Given the description of an element on the screen output the (x, y) to click on. 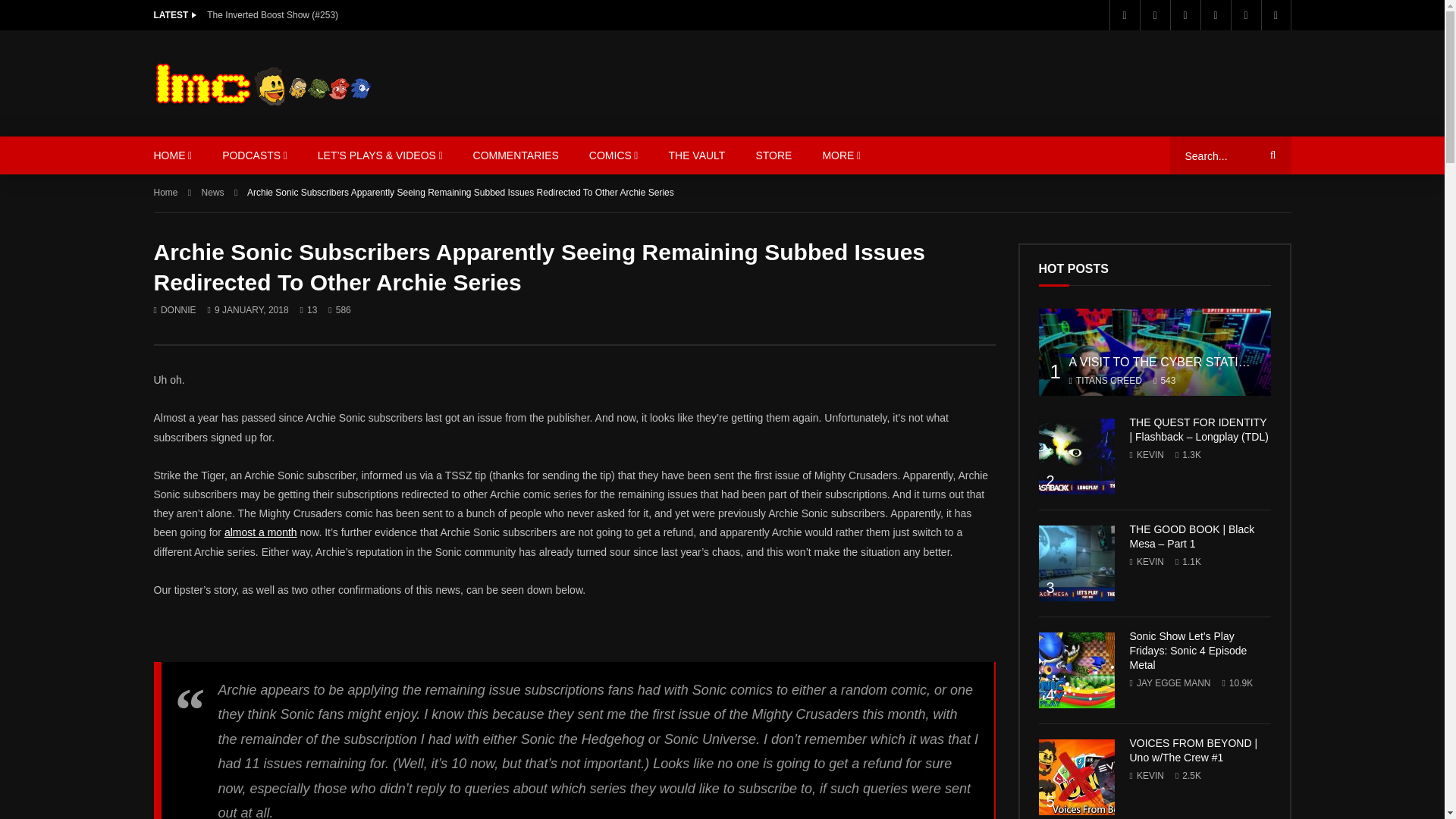
Last Minute Continue (262, 82)
Search (1270, 155)
Twitch (1275, 15)
Instagram (1214, 15)
Advertisement (1014, 79)
Twitter (1153, 15)
PODCASTS (254, 155)
HOME (172, 155)
Facebook (1123, 15)
Discord (1245, 15)
